Given the description of an element on the screen output the (x, y) to click on. 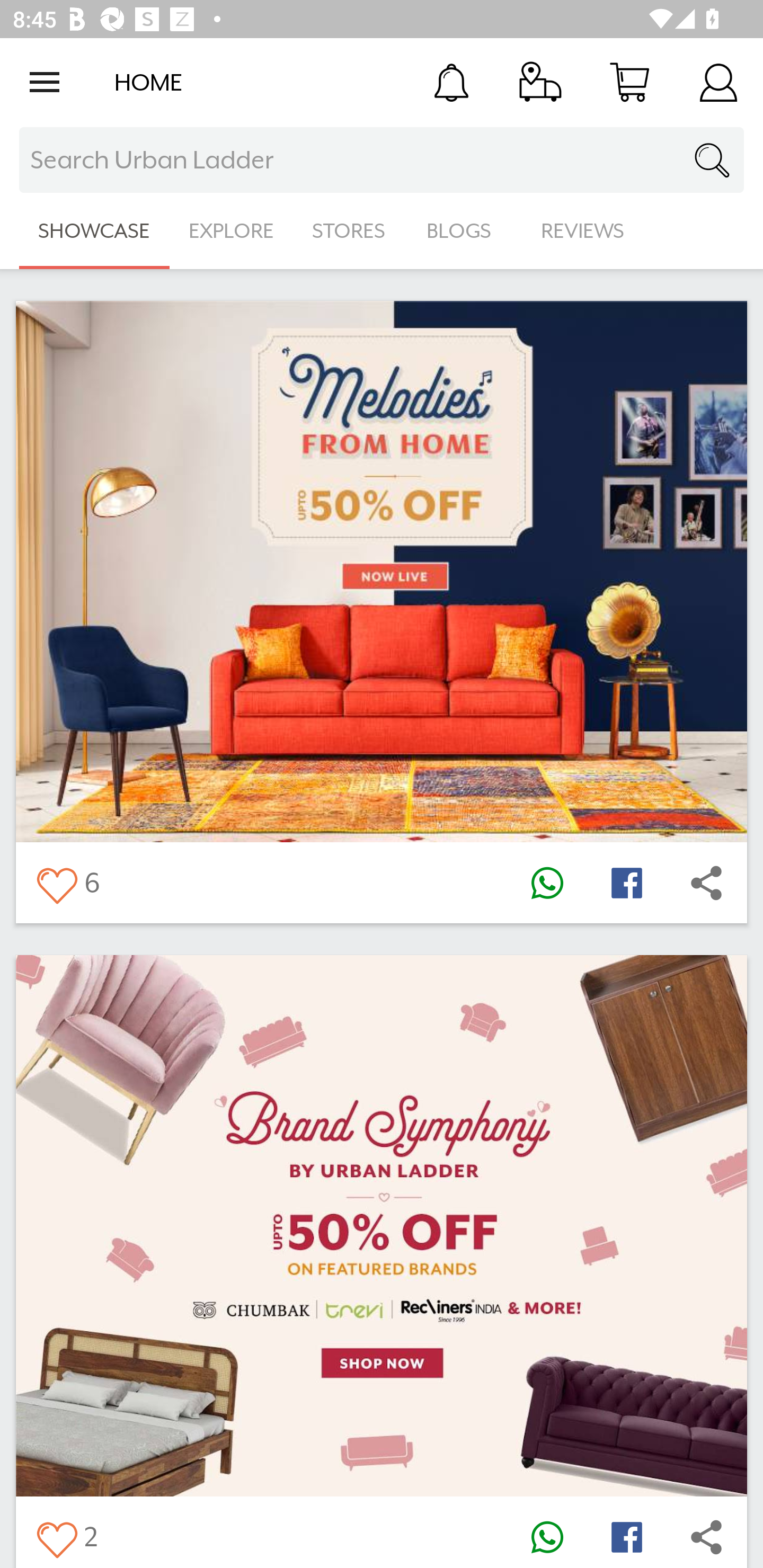
Open navigation drawer (44, 82)
Notification (450, 81)
Track Order (540, 81)
Cart (629, 81)
Account Details (718, 81)
Search Urban Ladder  (381, 159)
SHOWCASE (94, 230)
EXPLORE (230, 230)
STORES (349, 230)
BLOGS (464, 230)
REVIEWS (582, 230)
 (55, 882)
 (547, 882)
 (626, 882)
 (706, 882)
 (55, 1536)
 (547, 1536)
 (626, 1536)
 (706, 1536)
